Given the description of an element on the screen output the (x, y) to click on. 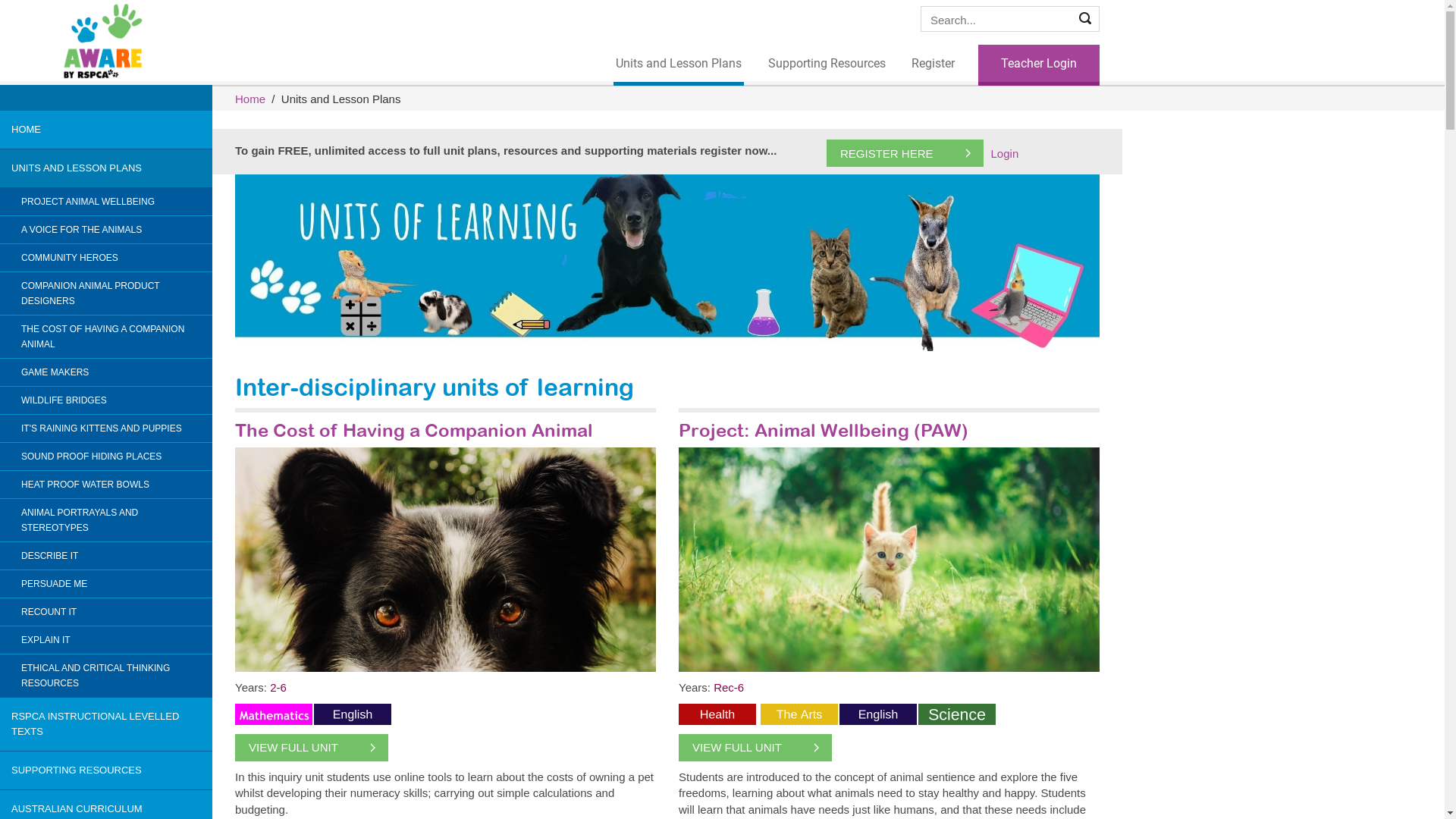
ETHICAL AND CRITICAL THINKING RESOURCES Element type: text (106, 675)
A VOICE FOR THE ANIMALS Element type: text (106, 229)
UNITS AND LESSON PLANS Element type: text (106, 168)
Supporting Resources Element type: text (826, 62)
IT'S RAINING KITTENS AND PUPPIES Element type: text (106, 428)
SUPPORTING RESOURCES Element type: text (106, 770)
WILDLIFE BRIDGES Element type: text (106, 400)
HOME Element type: text (106, 129)
DESCRIBE IT Element type: text (106, 555)
SOUND PROOF HIDING PLACES Element type: text (106, 456)
Teacher Login Element type: text (1038, 64)
EXPLAIN IT Element type: text (106, 639)
The Cost of Having a Companion Animal  Element type: text (416, 429)
RECOUNT IT Element type: text (106, 611)
Login Element type: text (1005, 152)
HEAT PROOF WATER BOWLS Element type: text (106, 484)
Register Element type: text (933, 62)
GAME MAKERS Element type: text (106, 371)
Units and Lesson Plans Element type: text (678, 64)
Project: Animal Wellbeing (PAW) Element type: text (823, 429)
VIEW FULL UNIT Element type: text (311, 747)
VIEW FULL UNIT Element type: text (754, 747)
COMMUNITY HEROES Element type: text (106, 257)
ANIMAL PORTRAYALS AND STEREOTYPES Element type: text (106, 519)
PROJECT ANIMAL WELLBEING Element type: text (106, 201)
REGISTER HERE Element type: text (904, 152)
COMPANION ANIMAL PRODUCT DESIGNERS Element type: text (106, 293)
THE COST OF HAVING A COMPANION ANIMAL Element type: text (106, 336)
PERSUADE ME Element type: text (106, 583)
RSPCA INSTRUCTIONAL LEVELLED TEXTS Element type: text (106, 723)
Home Element type: text (250, 98)
